Given the description of an element on the screen output the (x, y) to click on. 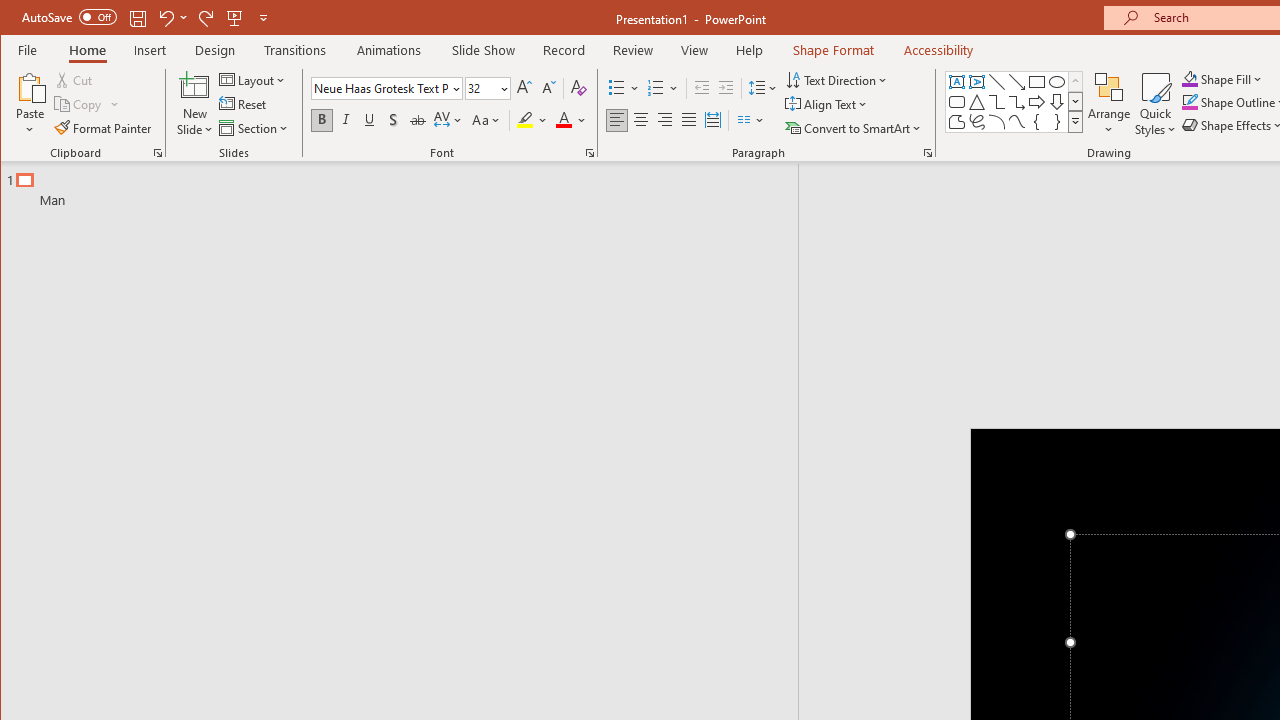
Freeform: Shape (956, 121)
Strikethrough (417, 119)
Decrease Indent (701, 88)
Outline (408, 185)
Oval (1057, 82)
Shape Outline Blue, Accent 1 (1189, 101)
Increase Font Size (524, 88)
Font Color Red (563, 119)
AutomationID: ShapesInsertGallery (1014, 102)
Format Painter (104, 127)
